Given the description of an element on the screen output the (x, y) to click on. 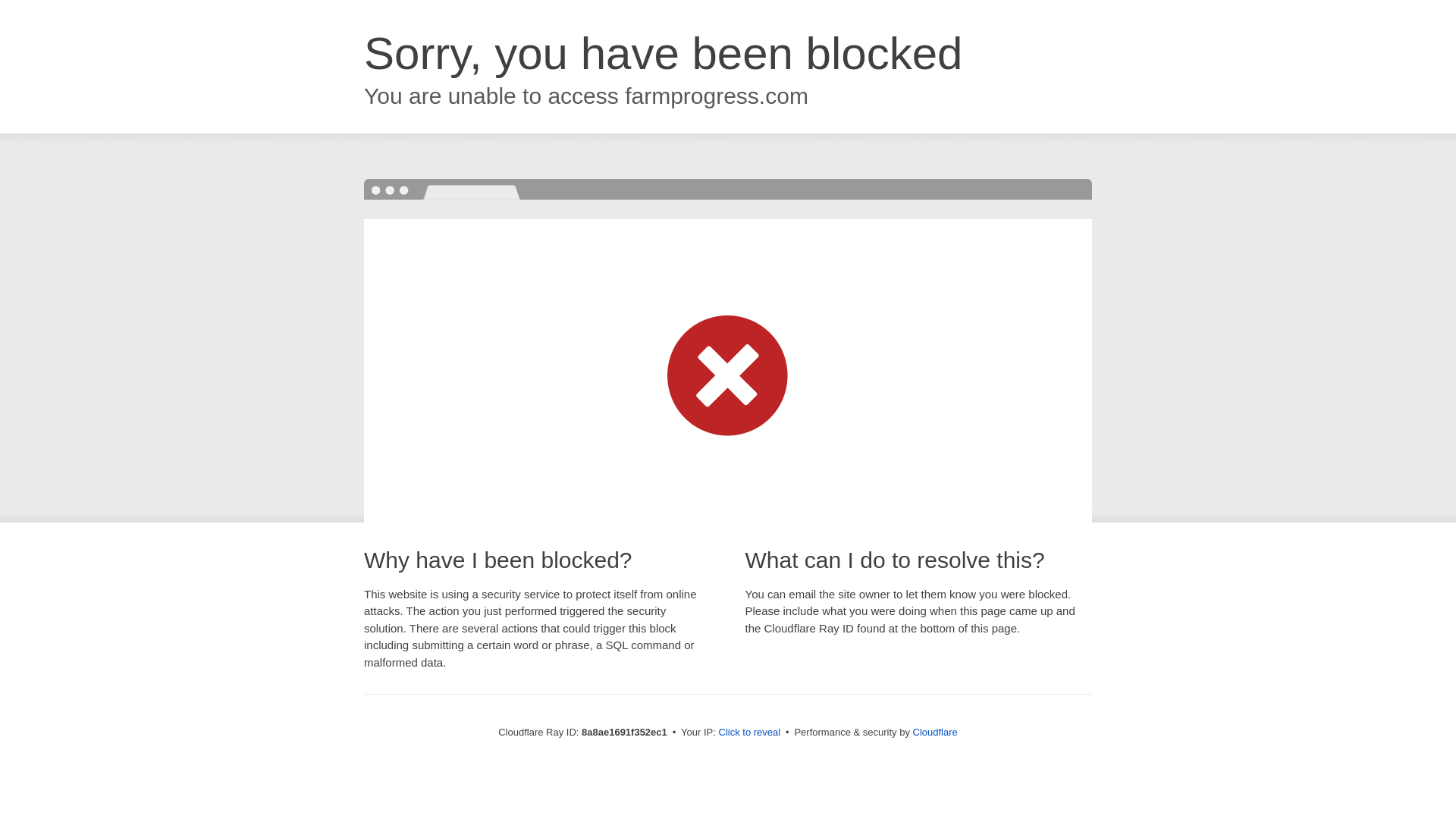
Cloudflare (935, 731)
Click to reveal (749, 732)
